Given the description of an element on the screen output the (x, y) to click on. 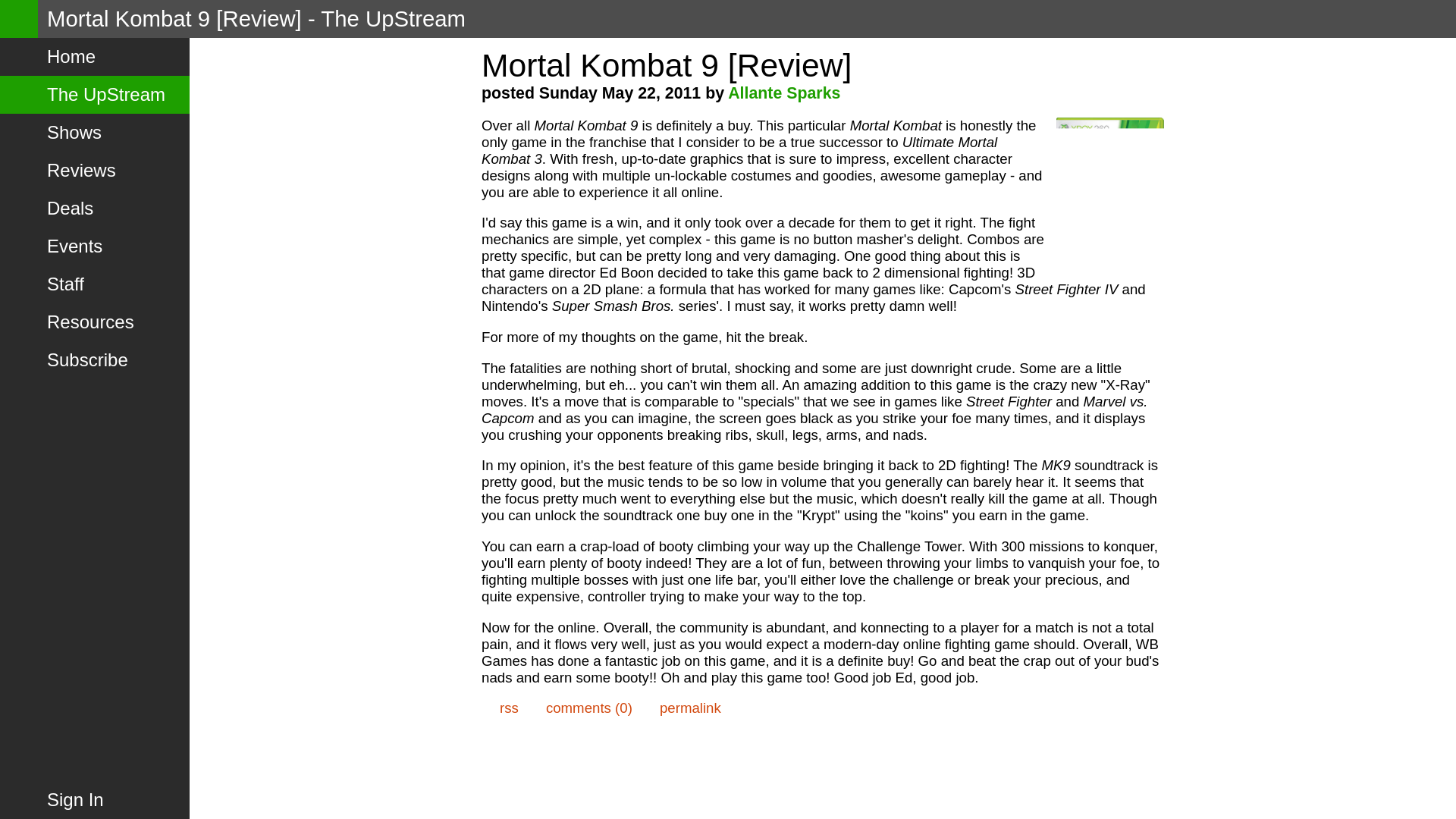
Home (94, 56)
permalink (681, 707)
comments (579, 707)
Shows (94, 132)
Reviews (94, 170)
Staff (94, 284)
Events (94, 246)
Deals (94, 208)
Allante Sparks (784, 93)
rss (499, 707)
The UpStream (94, 94)
Resources (94, 322)
permalink (681, 707)
subscribe (499, 707)
Subscribe (94, 360)
